Given the description of an element on the screen output the (x, y) to click on. 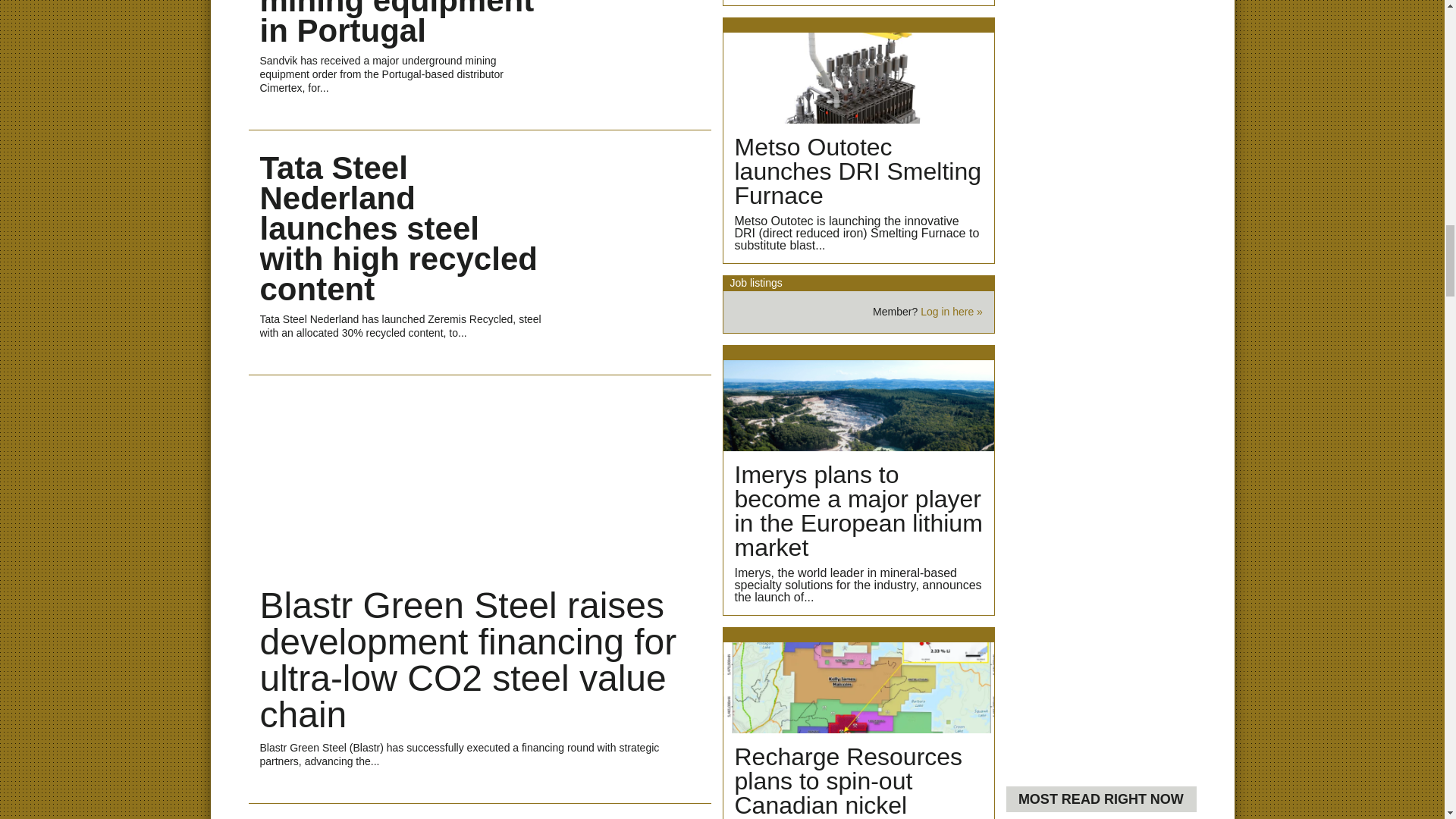
3rd party ad content (1100, 103)
